Given the description of an element on the screen output the (x, y) to click on. 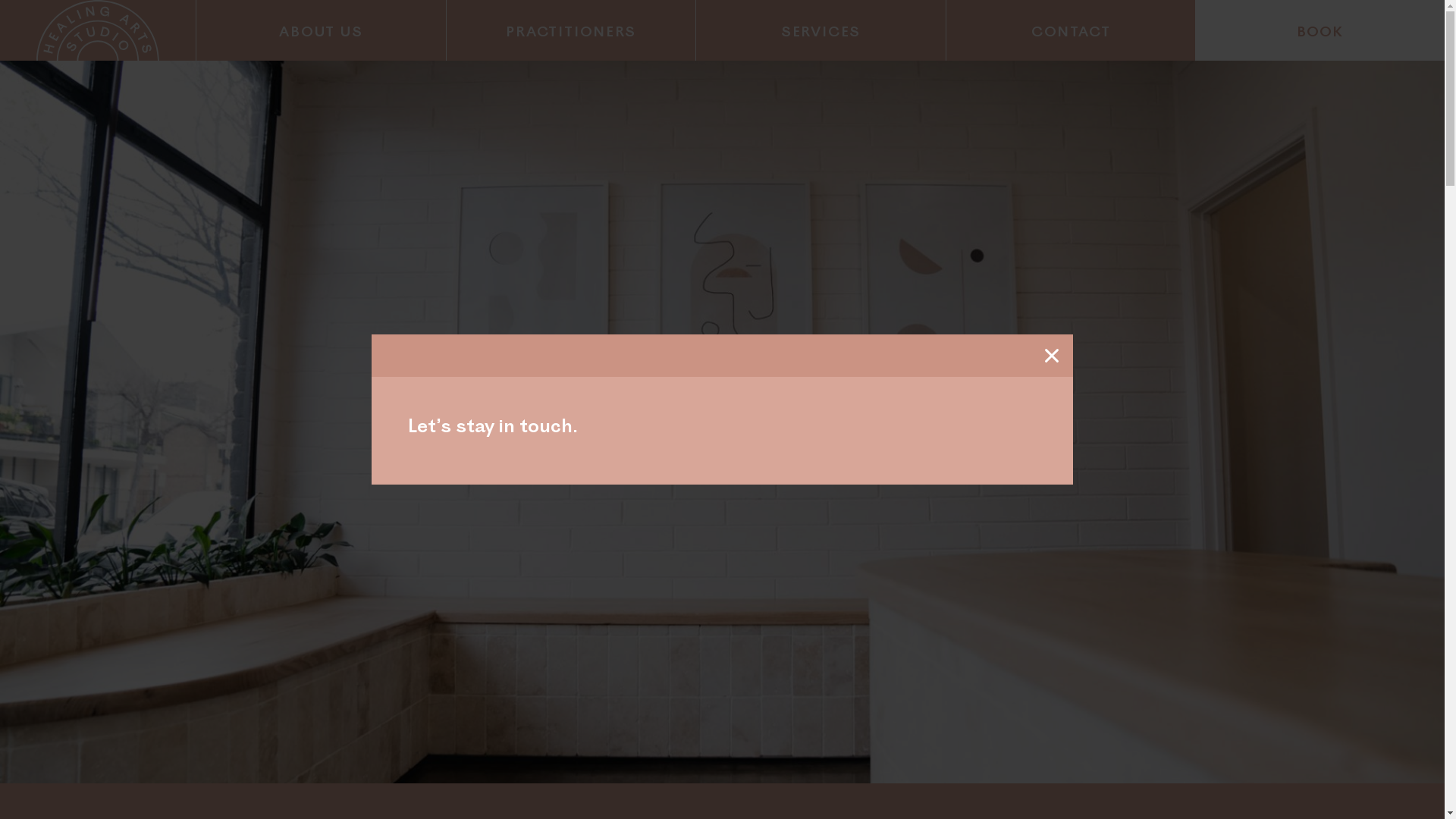
CONTACT Element type: text (1070, 30)
PRACTITIONERS Element type: text (571, 30)
SERVICES Element type: text (820, 30)
BOOK Element type: text (1319, 30)
ABOUT US Element type: text (320, 30)
